Given the description of an element on the screen output the (x, y) to click on. 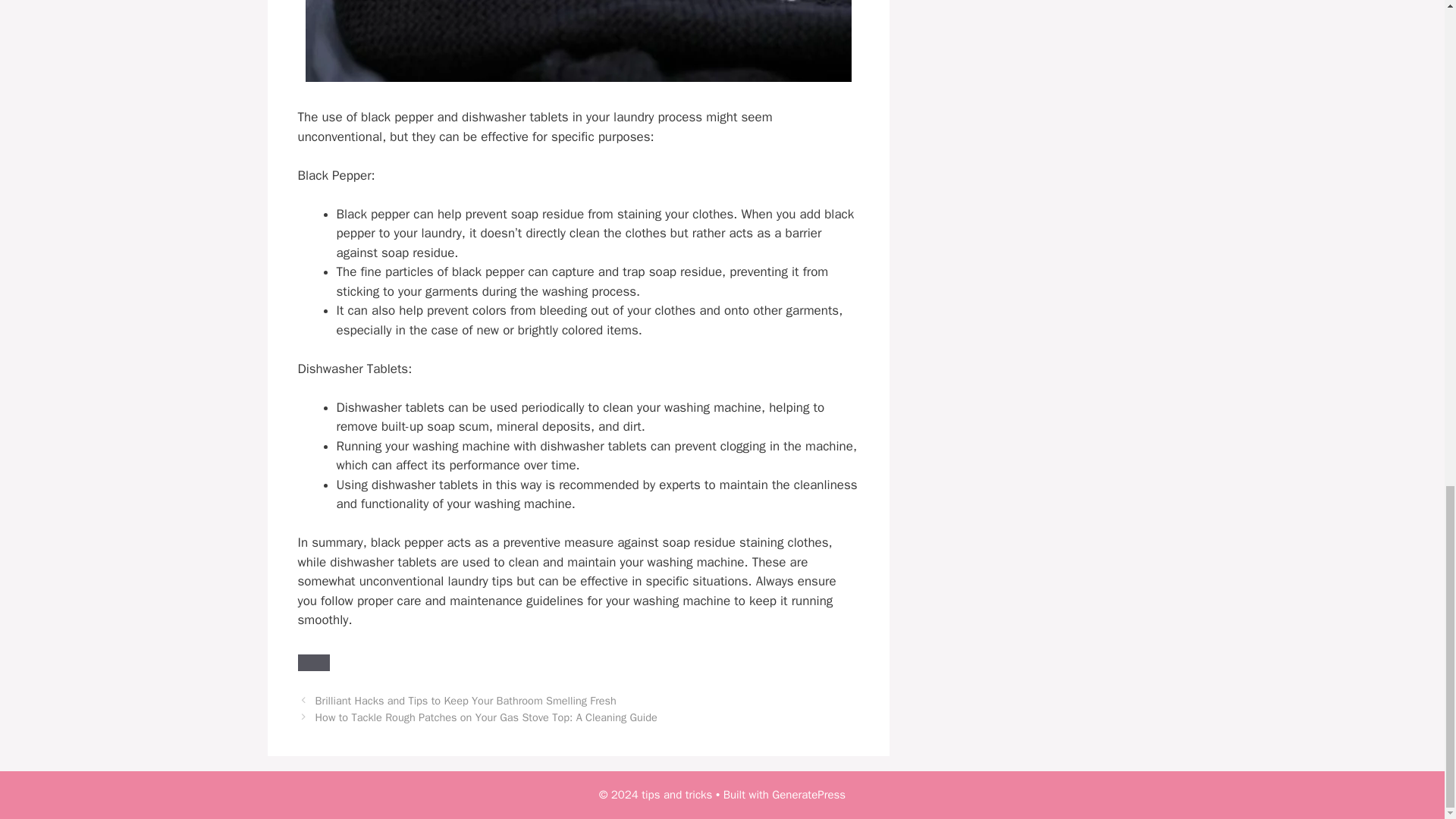
GeneratePress (808, 794)
